Given the description of an element on the screen output the (x, y) to click on. 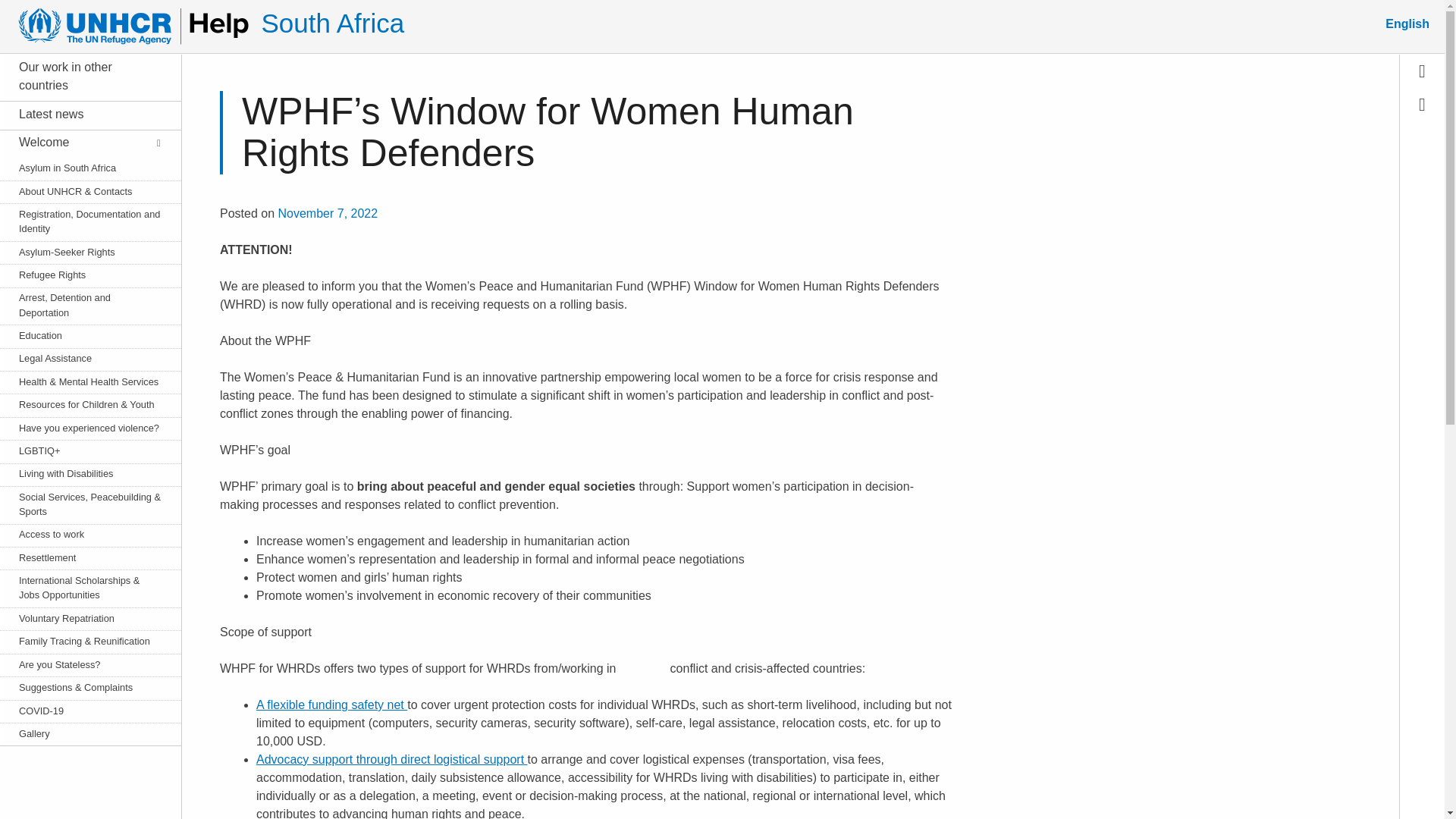
Legal Assistance (81, 358)
Our work in other countries (81, 76)
Refugee Rights (81, 274)
English (1407, 24)
Asylum in South Africa (81, 167)
November 7, 2022 (327, 213)
A flexible funding safety net  (331, 704)
Education (81, 335)
Arrest, Detention and Deportation (81, 304)
Living with Disabilities (81, 473)
